Given the description of an element on the screen output the (x, y) to click on. 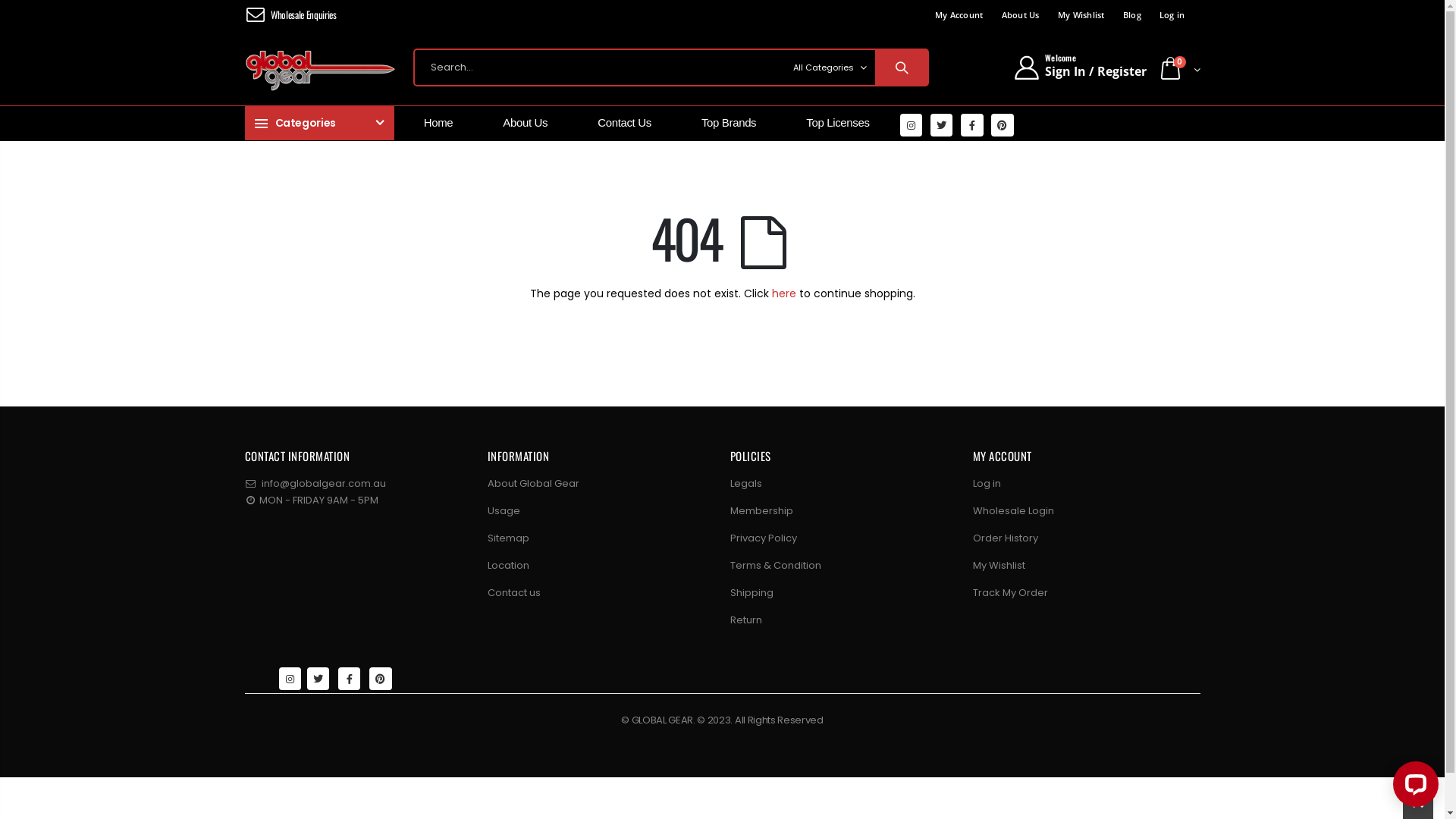
Home Element type: text (443, 122)
Terms & Condition Element type: text (774, 565)
Wholesale Login Element type: text (1012, 510)
Contact Us Element type: text (628, 122)
Shipping Element type: text (750, 592)
Order History Element type: text (1004, 537)
Track My Order Element type: text (1009, 592)
0 Element type: text (1177, 69)
Blog Element type: text (1132, 13)
Sitemap Element type: text (507, 537)
info@globalgear.com.au Element type: text (323, 483)
My Wishlist Element type: text (1080, 13)
Top Brands Element type: text (733, 122)
My Account Element type: text (959, 13)
My Wishlist Element type: text (998, 565)
Privacy Policy Element type: text (762, 537)
About Us Element type: text (1019, 13)
Usage Element type: text (502, 510)
Wholesale Enquiries Element type: text (301, 14)
All Categories Element type: text (828, 67)
Categories Element type: text (318, 123)
Membership Element type: text (760, 510)
Search Element type: text (901, 67)
About Global Gear Element type: text (532, 483)
Return Element type: text (745, 619)
Log in Element type: text (1172, 13)
Contact us Element type: text (512, 592)
Top Licenses Element type: text (842, 122)
Location Element type: text (507, 565)
Welcome
Sign In / Register Element type: text (1079, 66)
Log in Element type: text (986, 483)
About Us Element type: text (530, 122)
Legals Element type: text (745, 483)
here Element type: text (783, 293)
